Given the description of an element on the screen output the (x, y) to click on. 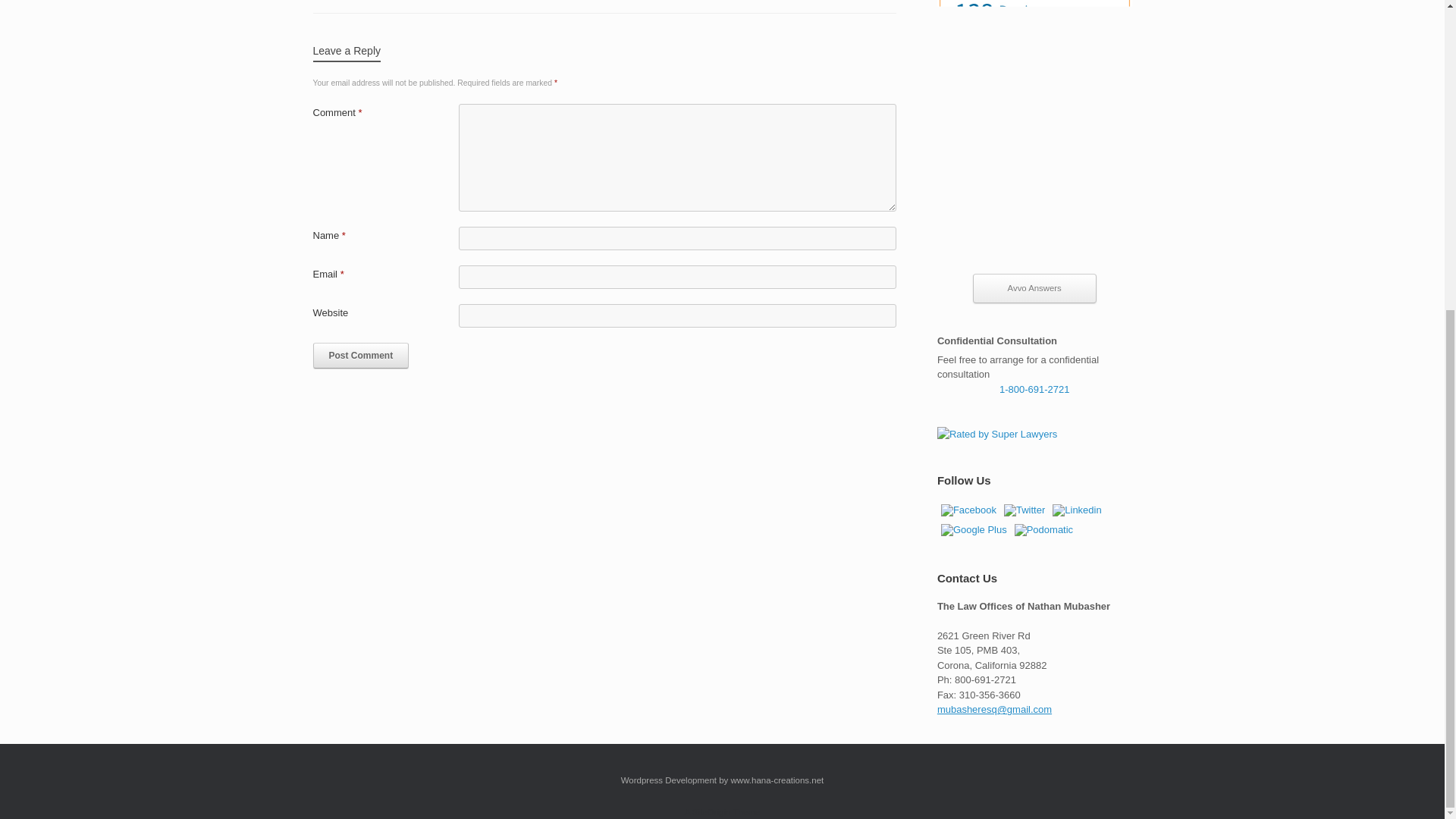
Facebook (968, 509)
Twitter (1024, 510)
Facebook (967, 510)
Linkedin (1076, 509)
SiteOrigin (711, 811)
Twitter (1024, 509)
Post Comment (361, 355)
1-800-691-2721 (1034, 388)
Visit the official website of Super Lawyers (1034, 434)
